Given the description of an element on the screen output the (x, y) to click on. 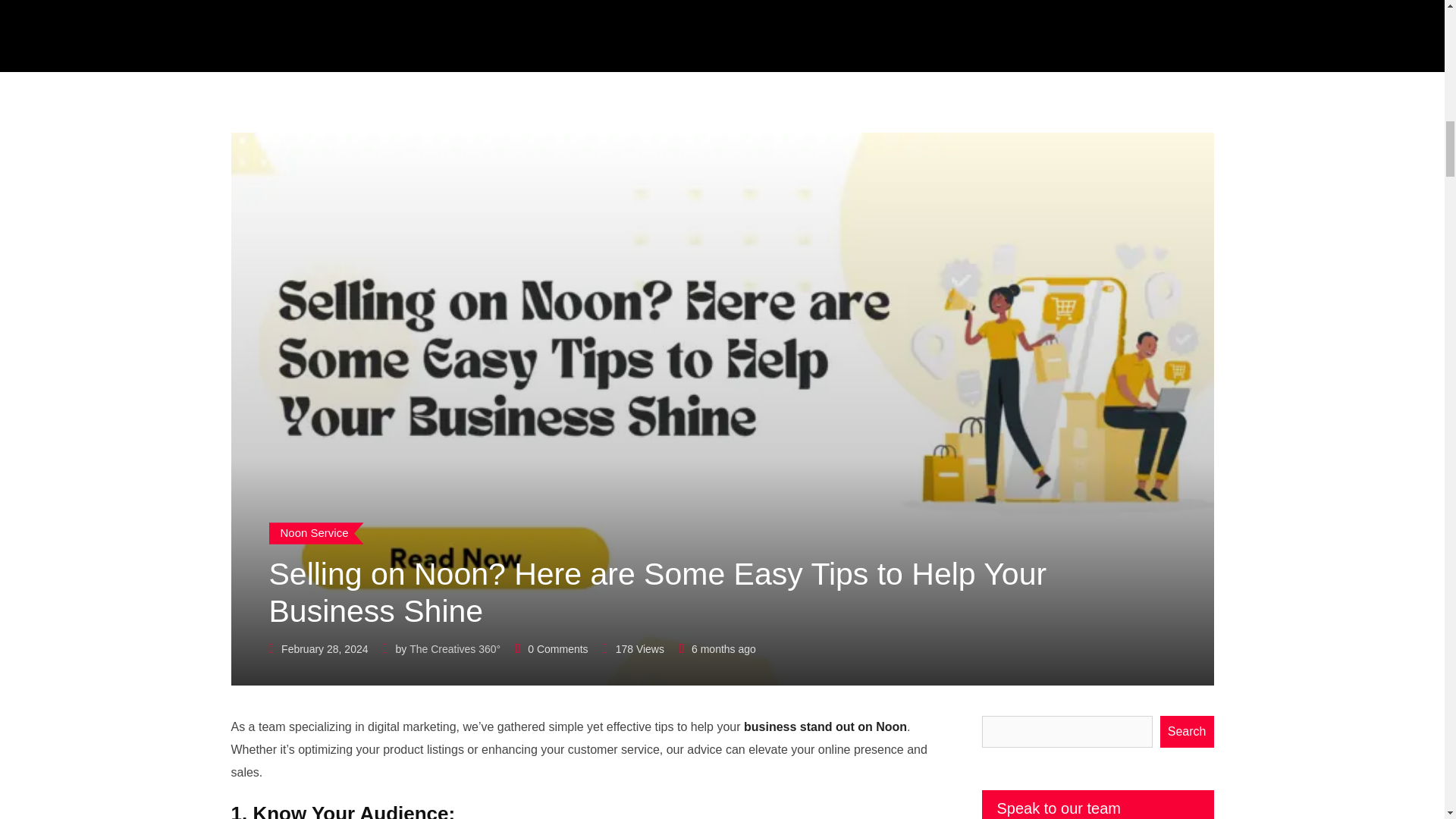
business stand out on Noon (825, 726)
Noon Service (314, 533)
Search (1187, 731)
